Given the description of an element on the screen output the (x, y) to click on. 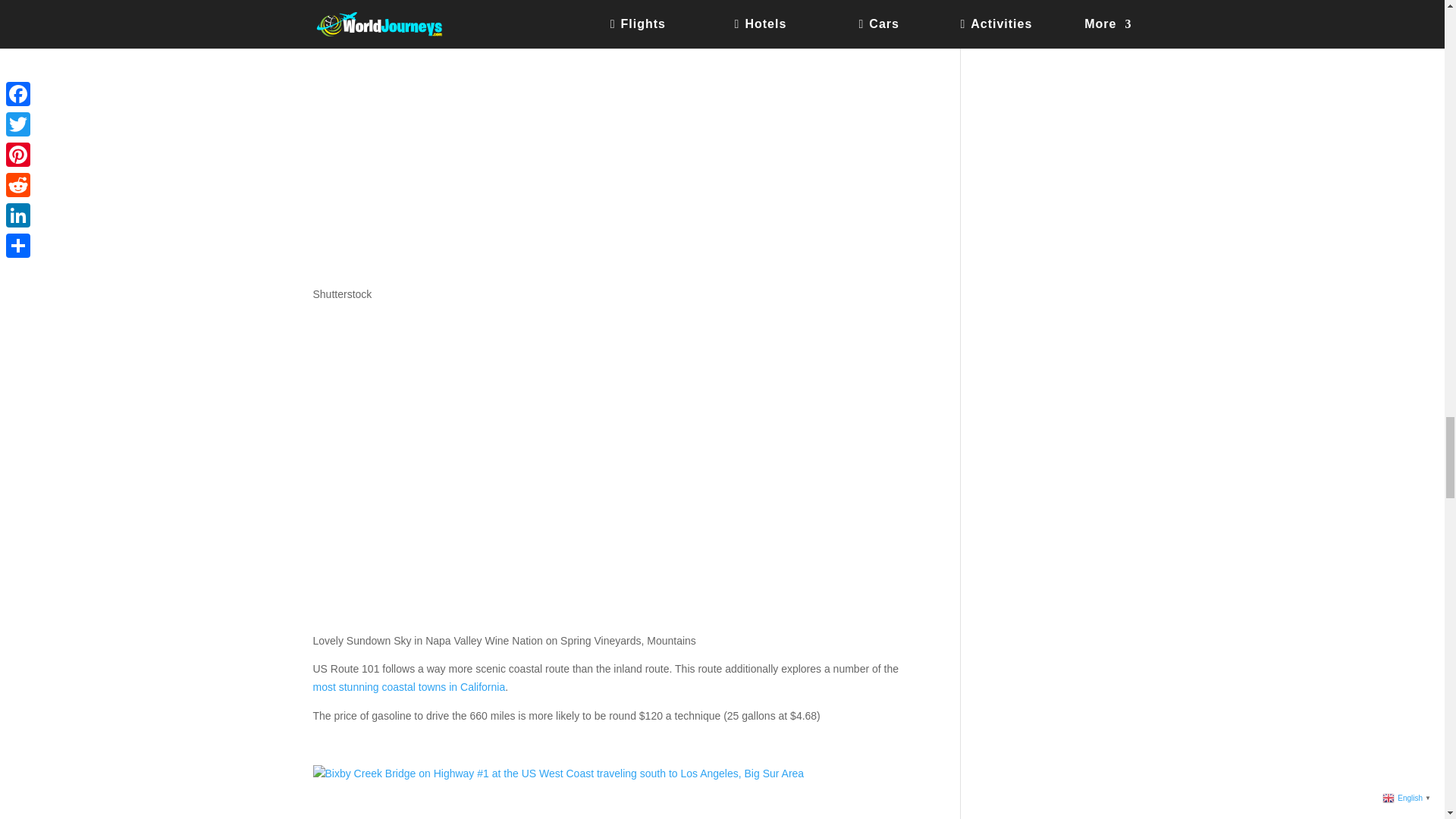
most stunning coastal towns in California (409, 686)
